Given the description of an element on the screen output the (x, y) to click on. 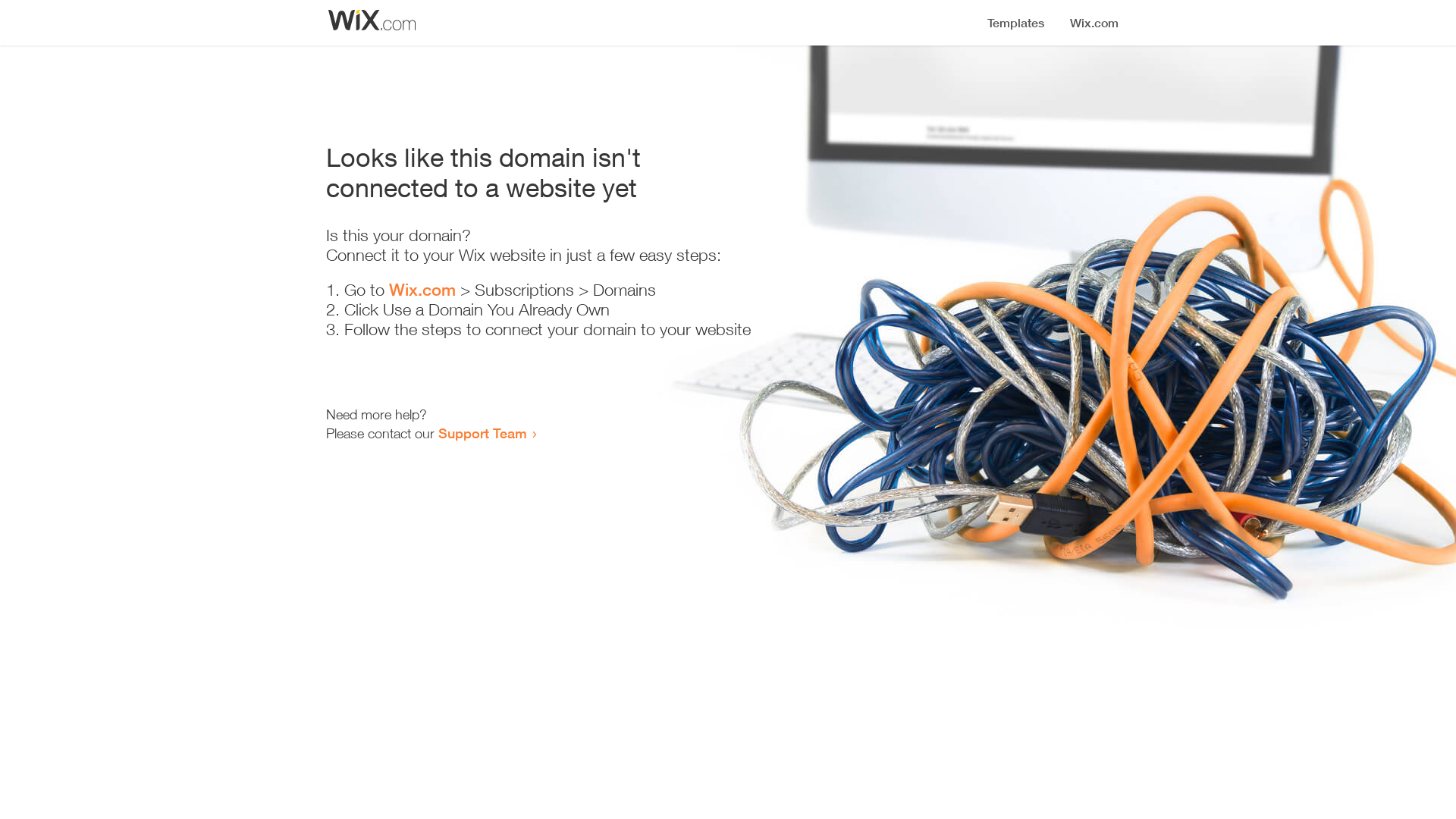
Support Team Element type: text (482, 432)
Wix.com Element type: text (422, 289)
